Given the description of an element on the screen output the (x, y) to click on. 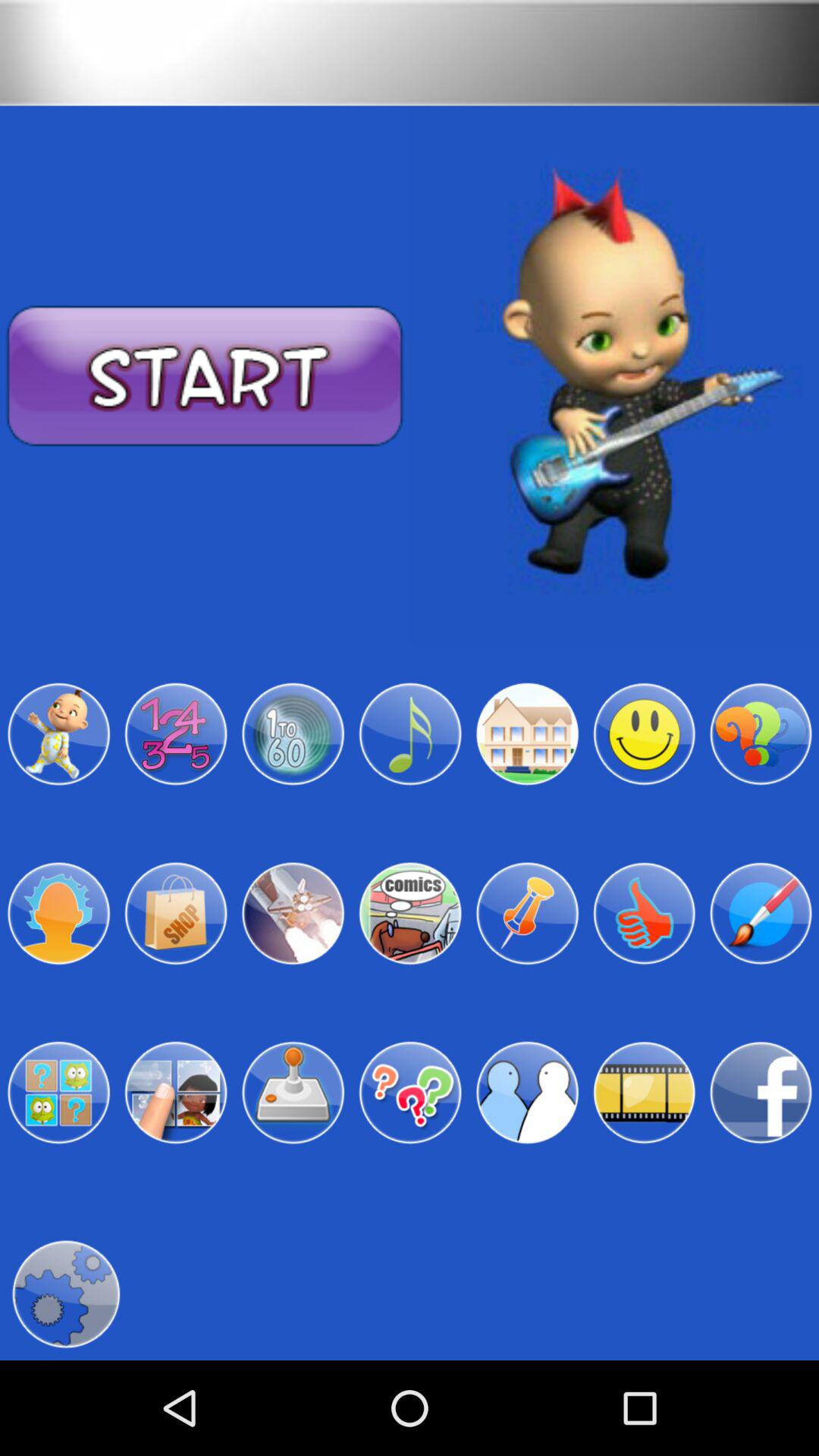
select smile emoji (643, 734)
